Given the description of an element on the screen output the (x, y) to click on. 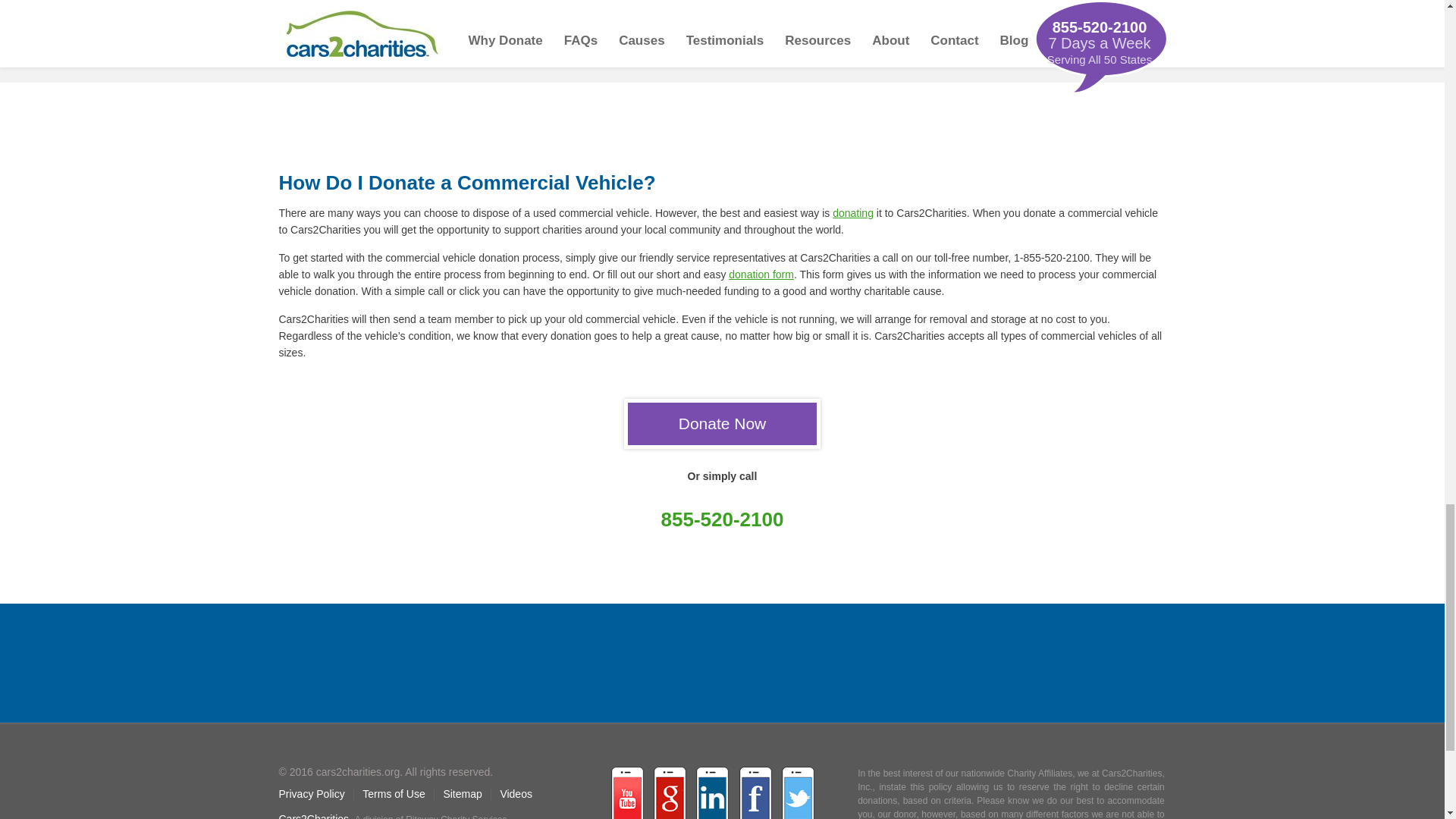
donating (852, 213)
Videos (515, 793)
Read Testimonials.. (721, 26)
donation form (761, 274)
Sitemap (461, 793)
Donate Now (722, 423)
Terms of Use (393, 793)
Privacy Policy (312, 793)
